Given the description of an element on the screen output the (x, y) to click on. 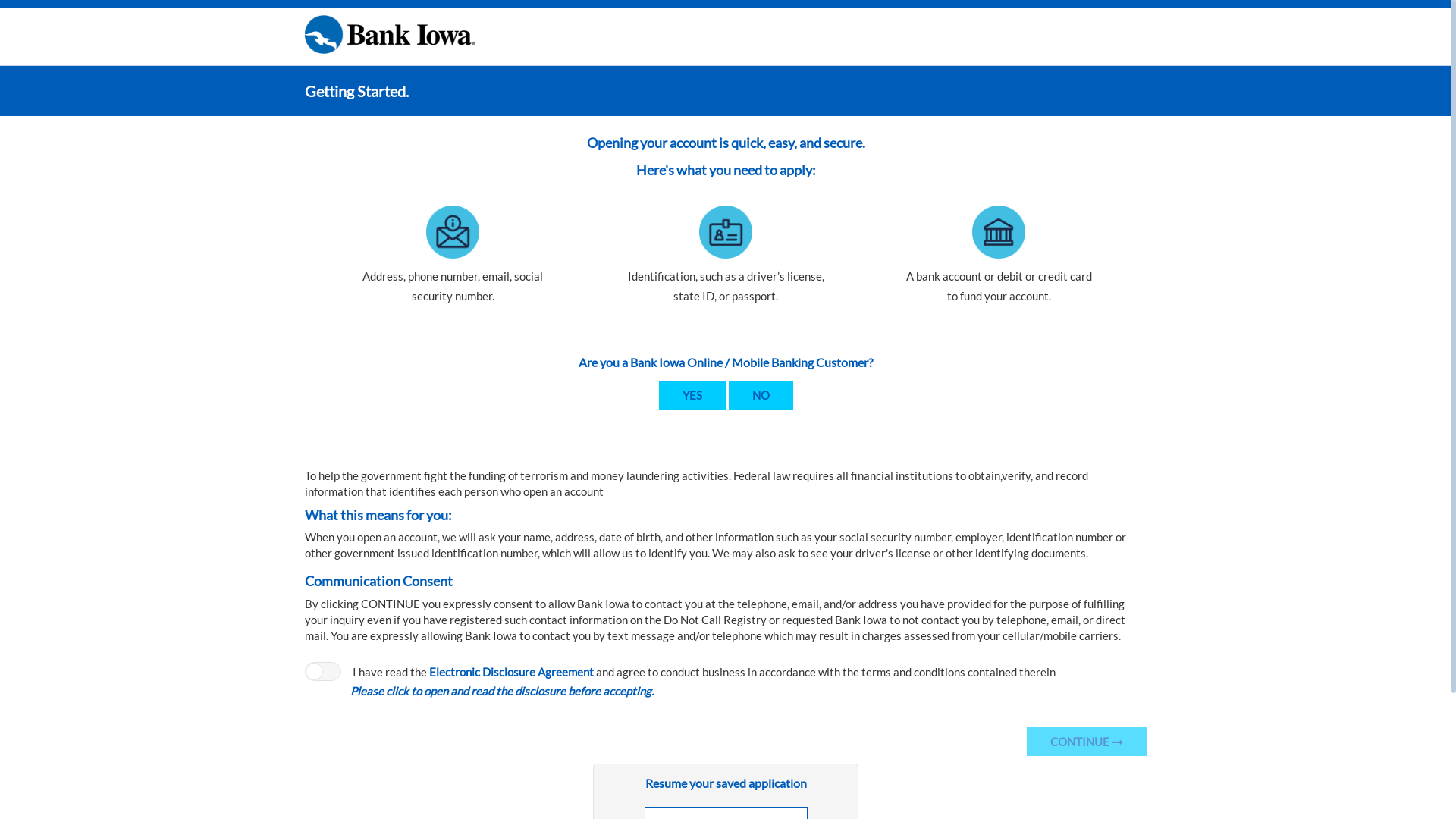
Electronic Disclosure Agreement Element type: text (511, 671)
CONTINUE Element type: text (1086, 741)
